Given the description of an element on the screen output the (x, y) to click on. 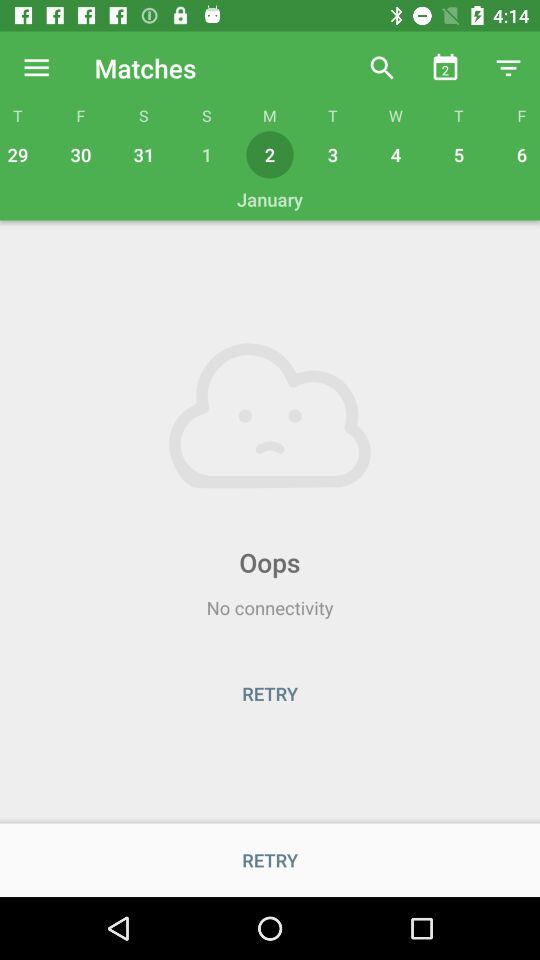
tap the item above the january item (20, 154)
